Given the description of an element on the screen output the (x, y) to click on. 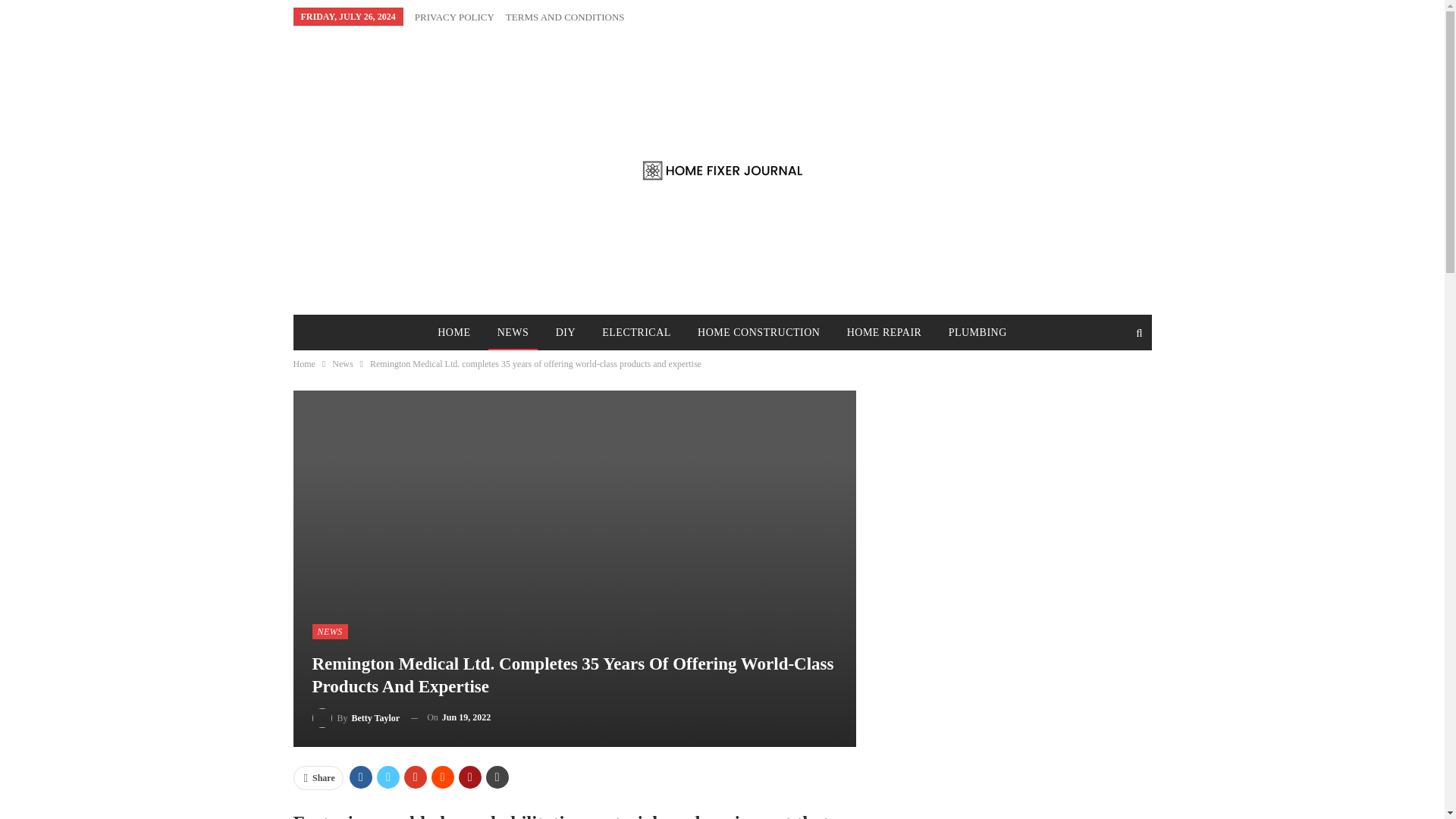
PLUMBING (977, 332)
Home (303, 363)
HOME (453, 332)
Browse Author Articles (356, 717)
NEWS (330, 631)
HOME REPAIR (884, 332)
NEWS (512, 332)
News (341, 363)
HOME CONSTRUCTION (758, 332)
DIY (566, 332)
ELECTRICAL (635, 332)
TERMS AND CONDITIONS (564, 16)
By Betty Taylor (356, 717)
PRIVACY POLICY (454, 16)
